Given the description of an element on the screen output the (x, y) to click on. 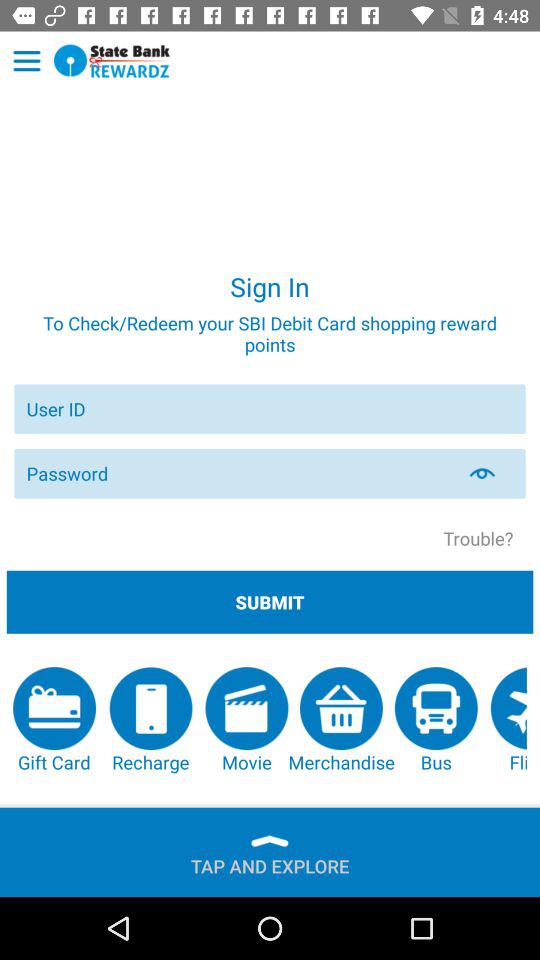
launch icon above trouble? app (494, 473)
